Given the description of an element on the screen output the (x, y) to click on. 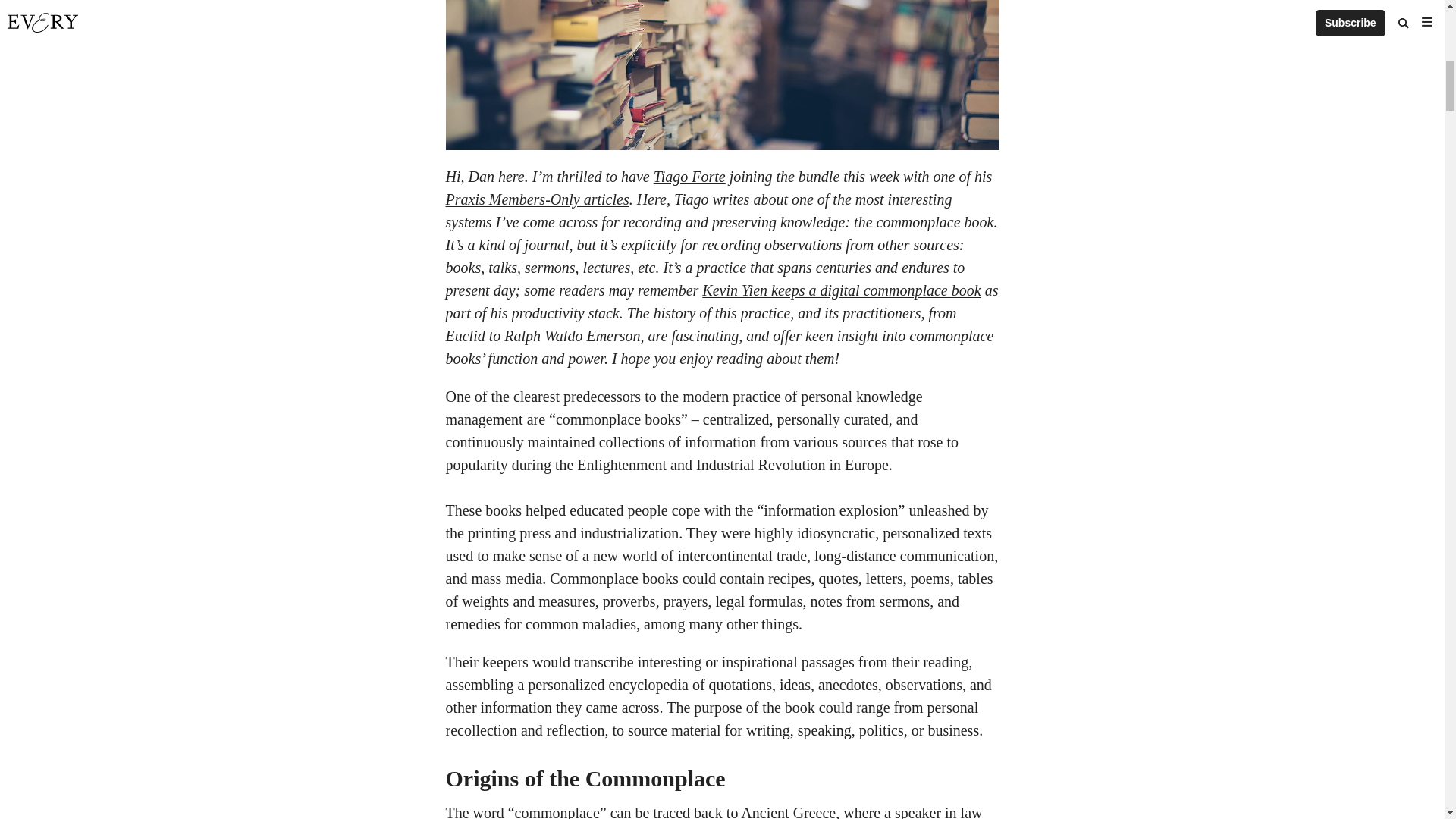
Praxis Members-Only articles (536, 199)
Tiago Forte (689, 176)
Kevin Yien keeps a digital commonplace book (840, 289)
